Given the description of an element on the screen output the (x, y) to click on. 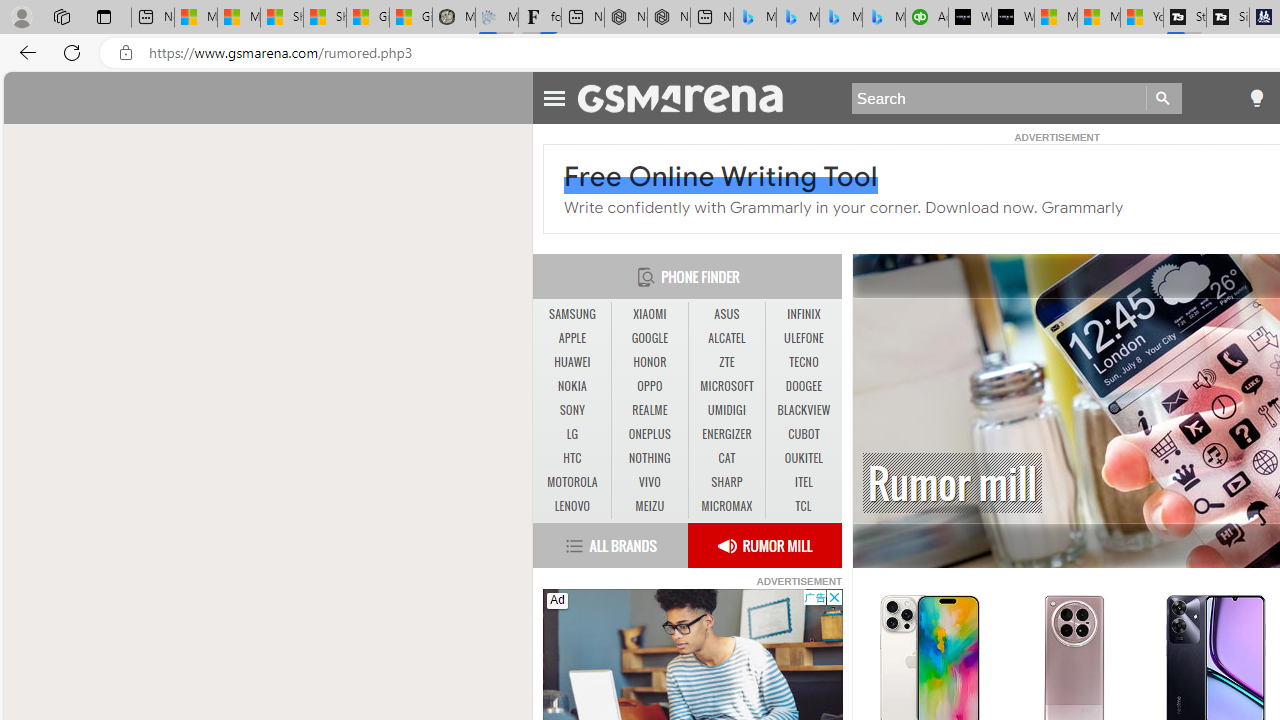
TCL (803, 506)
SHARP (726, 483)
ITEL (803, 482)
ITEL (803, 483)
LENOVO (571, 506)
NOKIA (571, 386)
HONOR (649, 362)
Gilma and Hector both pose tropical trouble for Hawaii (411, 17)
ENERGIZER (726, 434)
HONOR (649, 362)
CUBOT (803, 434)
LG (571, 434)
